Given the description of an element on the screen output the (x, y) to click on. 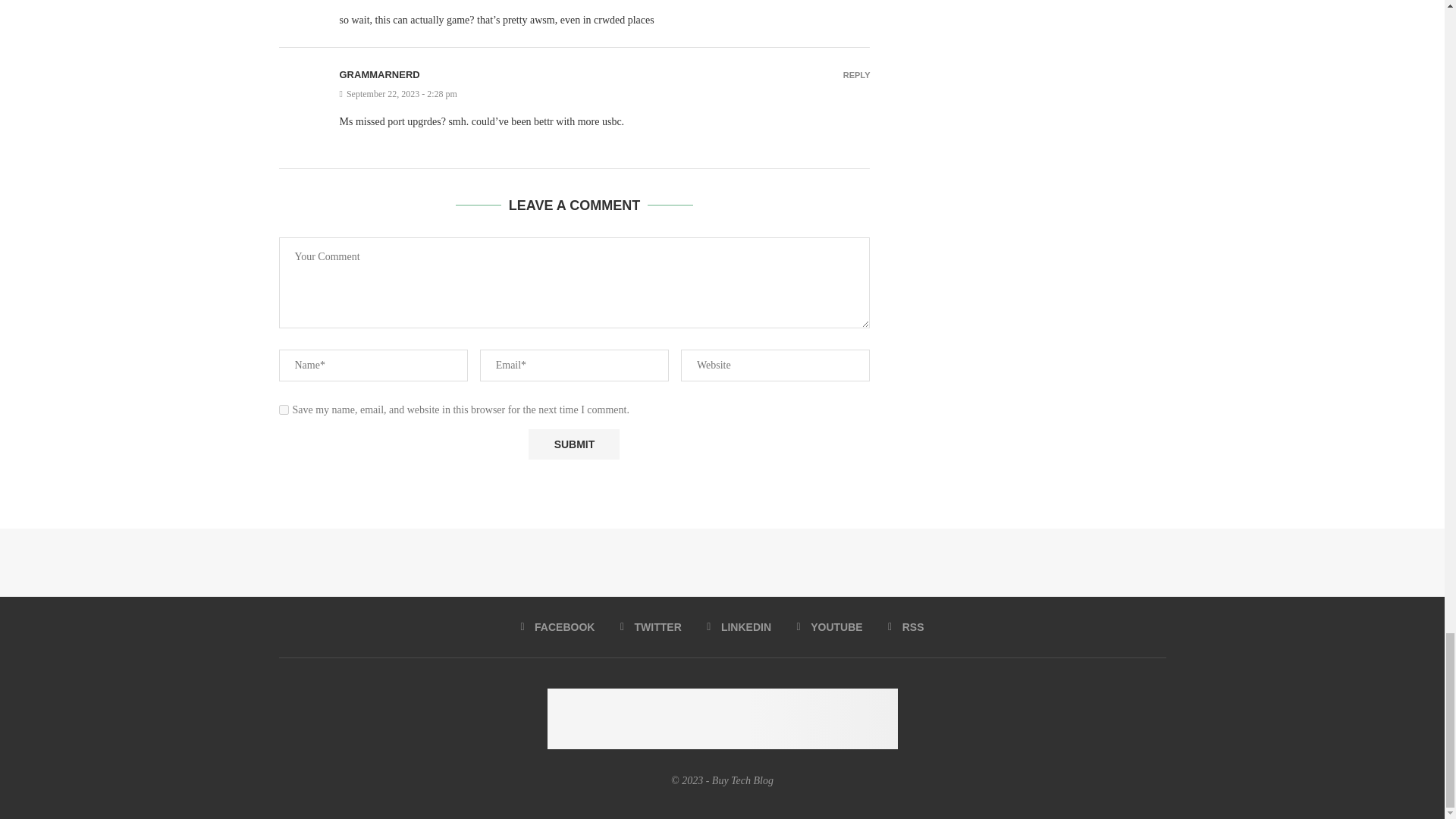
yes (283, 409)
Submit (574, 444)
